Given the description of an element on the screen output the (x, y) to click on. 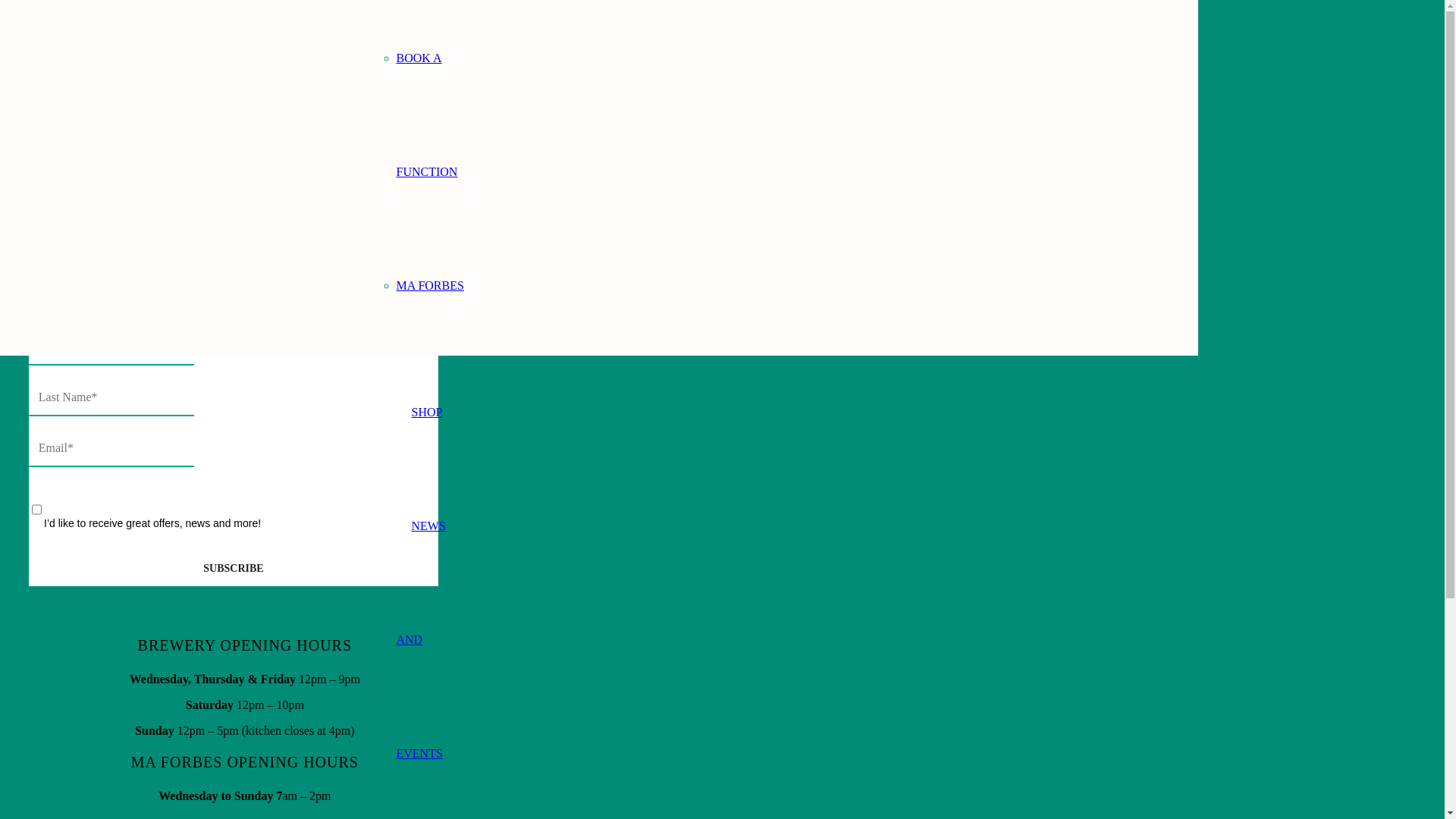
BOOK A FUNCTION Element type: text (426, 114)
SHOP Element type: text (426, 411)
JOIN OUR MAILING LIST Element type: text (91, 236)
Subscribe Element type: text (233, 569)
NEWS AND EVENTS Element type: text (426, 639)
MA FORBES Element type: text (429, 285)
